Given the description of an element on the screen output the (x, y) to click on. 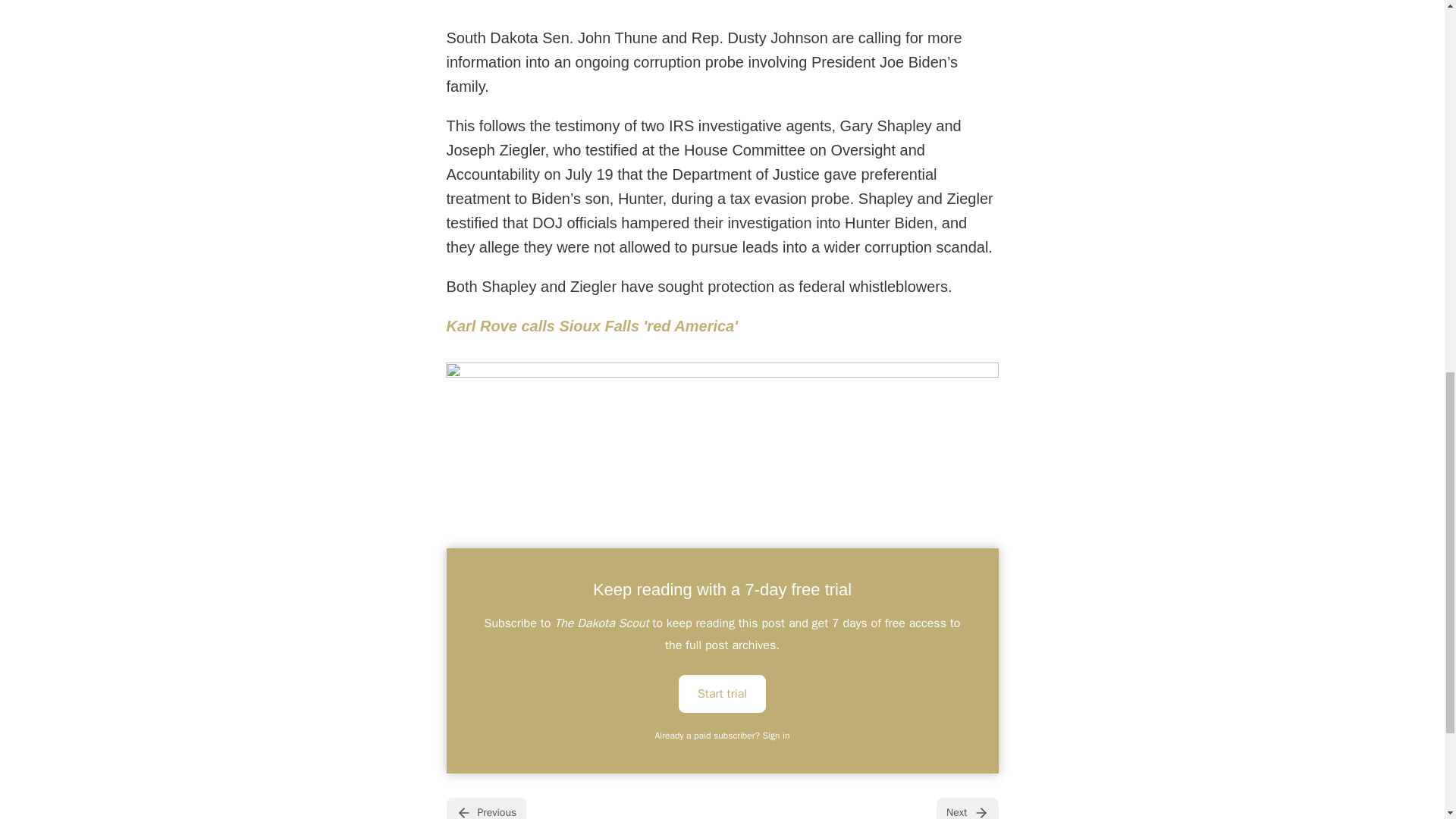
Already a paid subscriber? Sign in (722, 735)
Previous (485, 808)
Start trial (721, 693)
Karl Rove calls Sioux Falls 'red America' (591, 325)
Next (966, 808)
Start trial (721, 692)
